Given the description of an element on the screen output the (x, y) to click on. 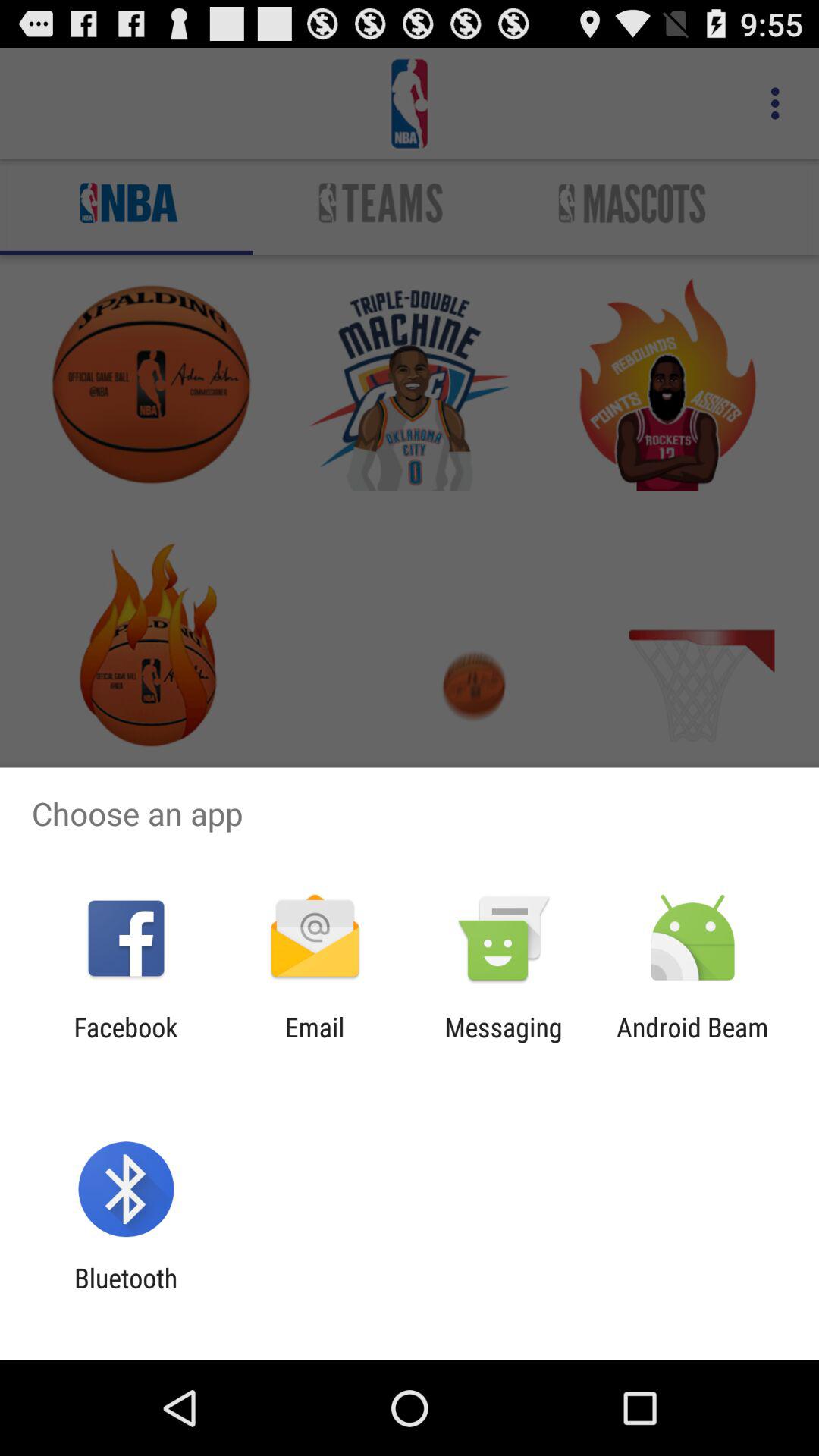
launch item next to the messaging app (314, 1042)
